Given the description of an element on the screen output the (x, y) to click on. 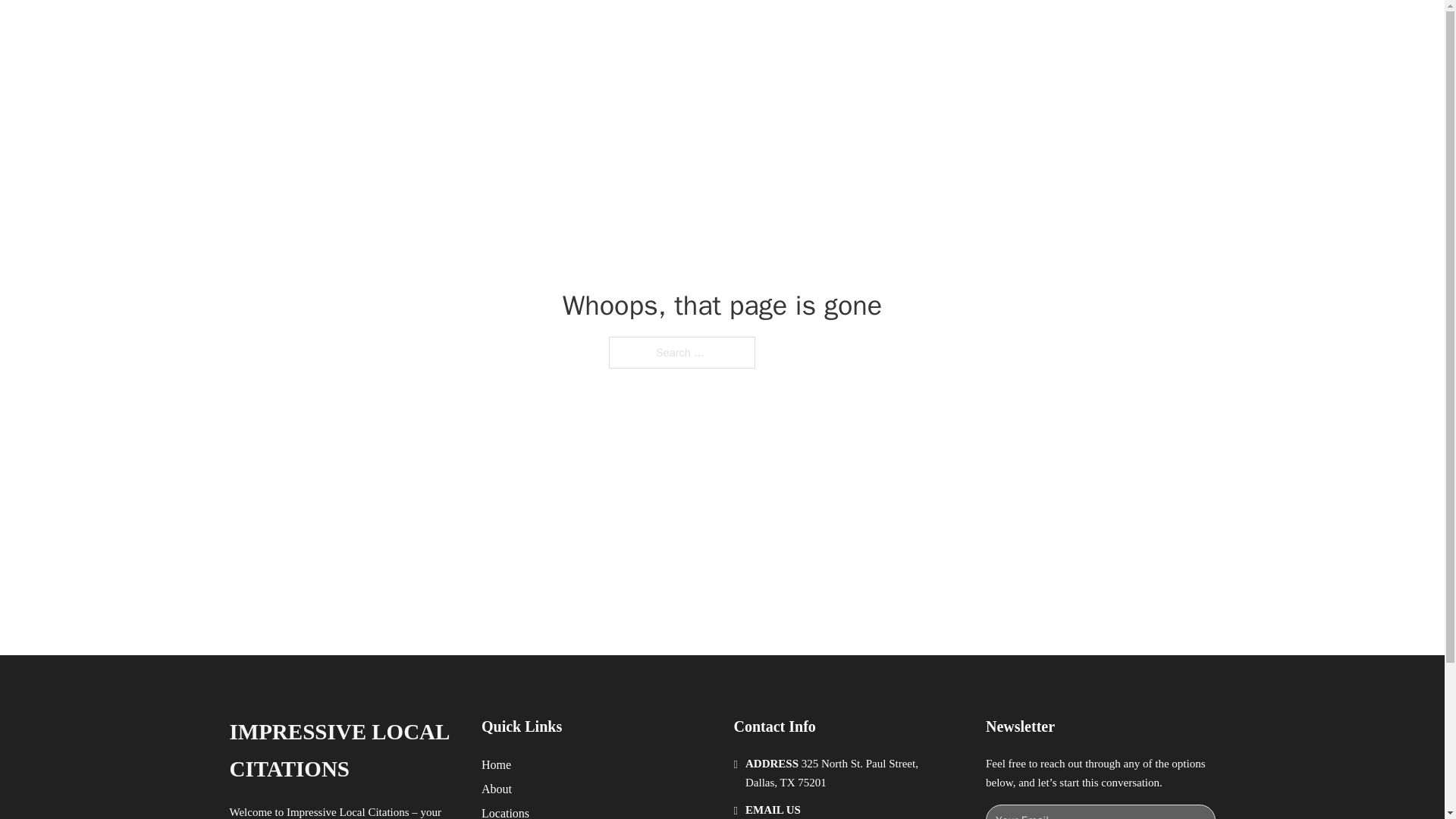
Locations (505, 811)
Home (496, 764)
IMPRESSIVE LOCAL CITATIONS (458, 28)
IMPRESSIVE LOCAL CITATIONS (343, 750)
About (496, 788)
